Given the description of an element on the screen output the (x, y) to click on. 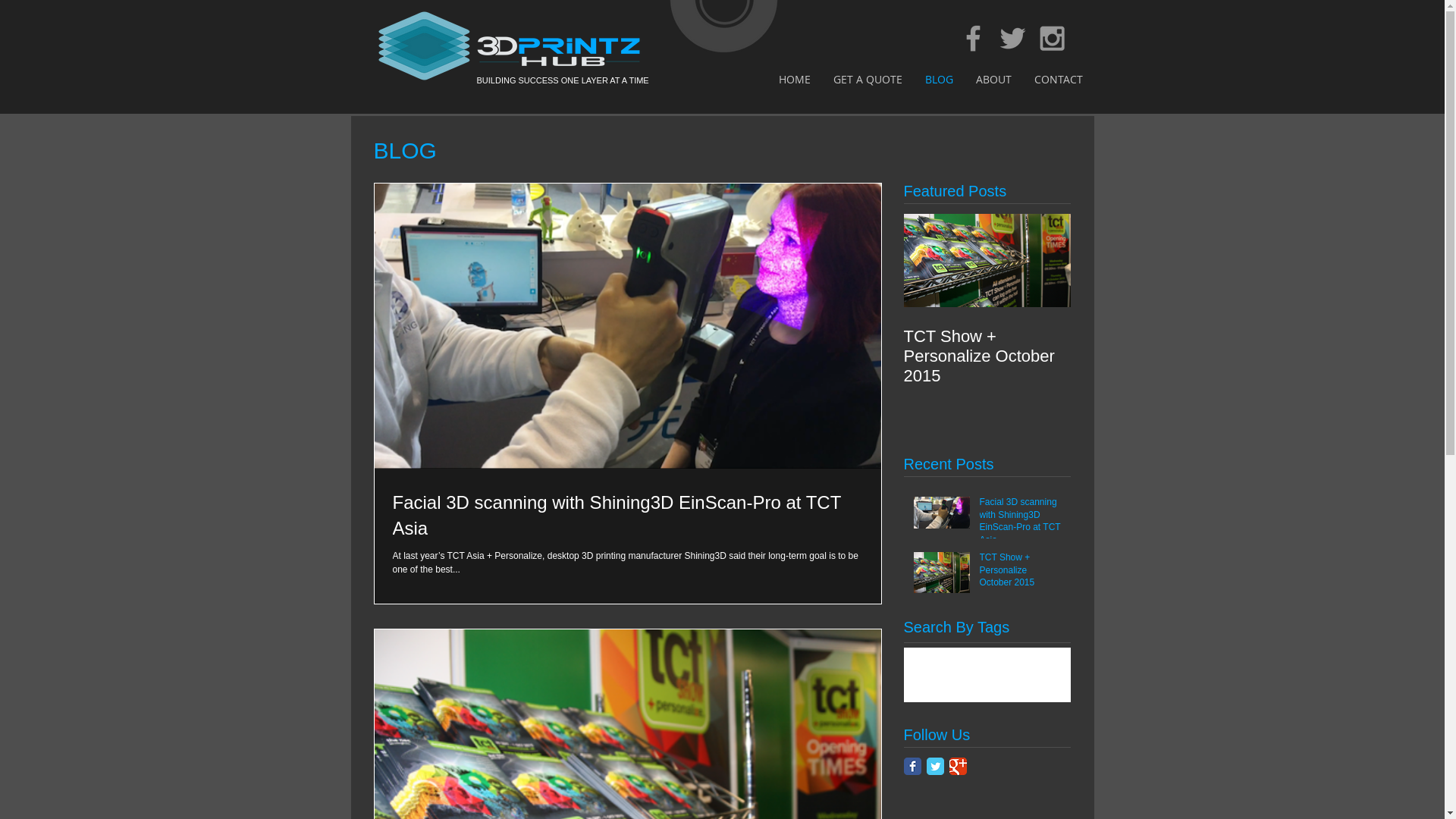
CONTACT Element type: text (1057, 78)
Facial 3D scanning with Shining3D EinScan-Pro at TCT Asia Element type: text (627, 514)
TCT Show + Personalize October 2015 Element type: text (986, 355)
BLOG Element type: text (938, 78)
GET A QUOTE Element type: text (867, 78)
Facial 3D scanning with Shining3D EinScan-Pro at TCT Asia Element type: text (1020, 523)
ABOUT Element type: text (993, 78)
Rapid Prototyping & 3D Printing Element type: hover (495, 45)
TCT Show + Personalize October 2015 Element type: text (1020, 573)
HOME Element type: text (794, 78)
